Given the description of an element on the screen output the (x, y) to click on. 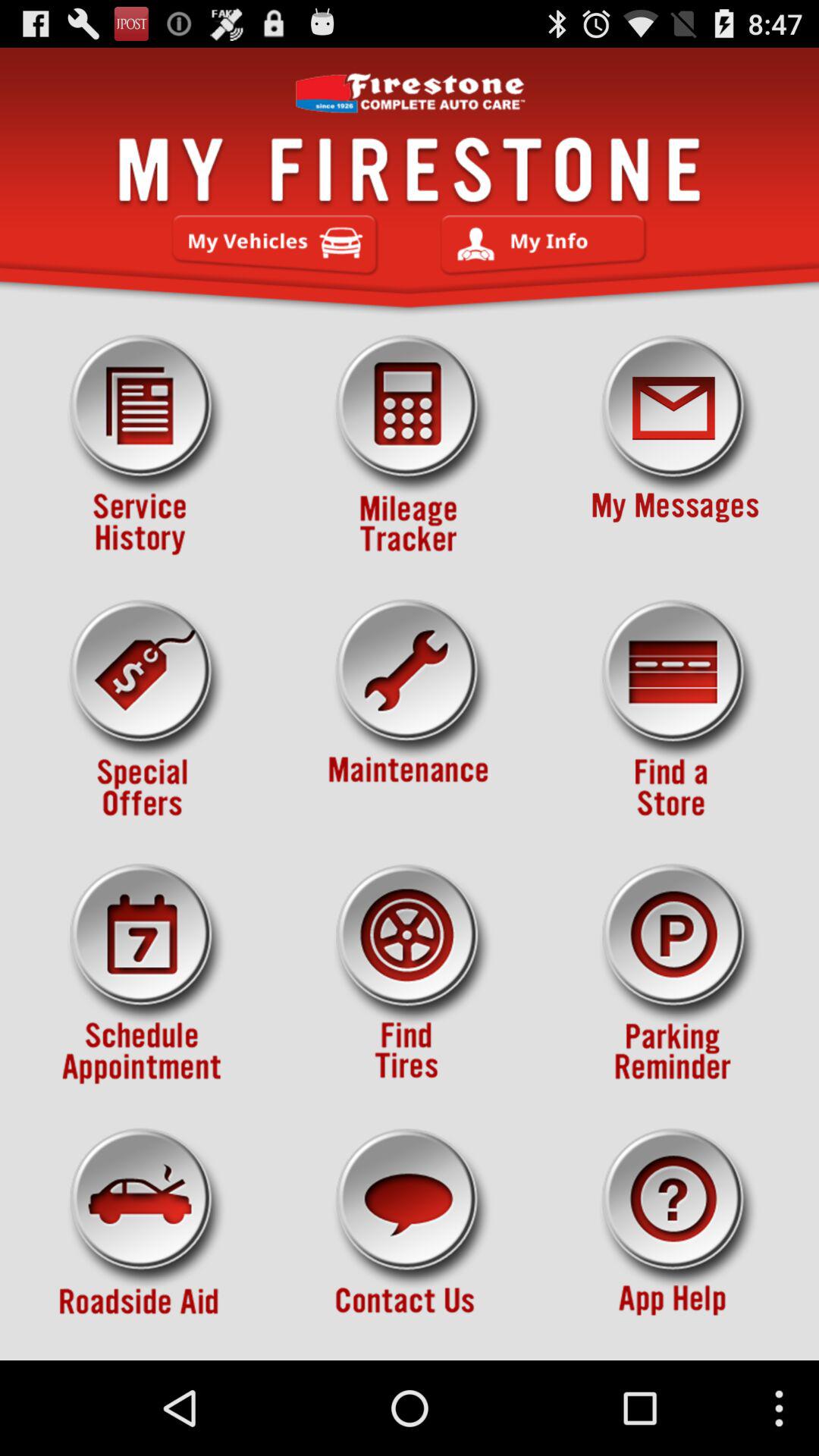
get help (675, 1238)
